Given the description of an element on the screen output the (x, y) to click on. 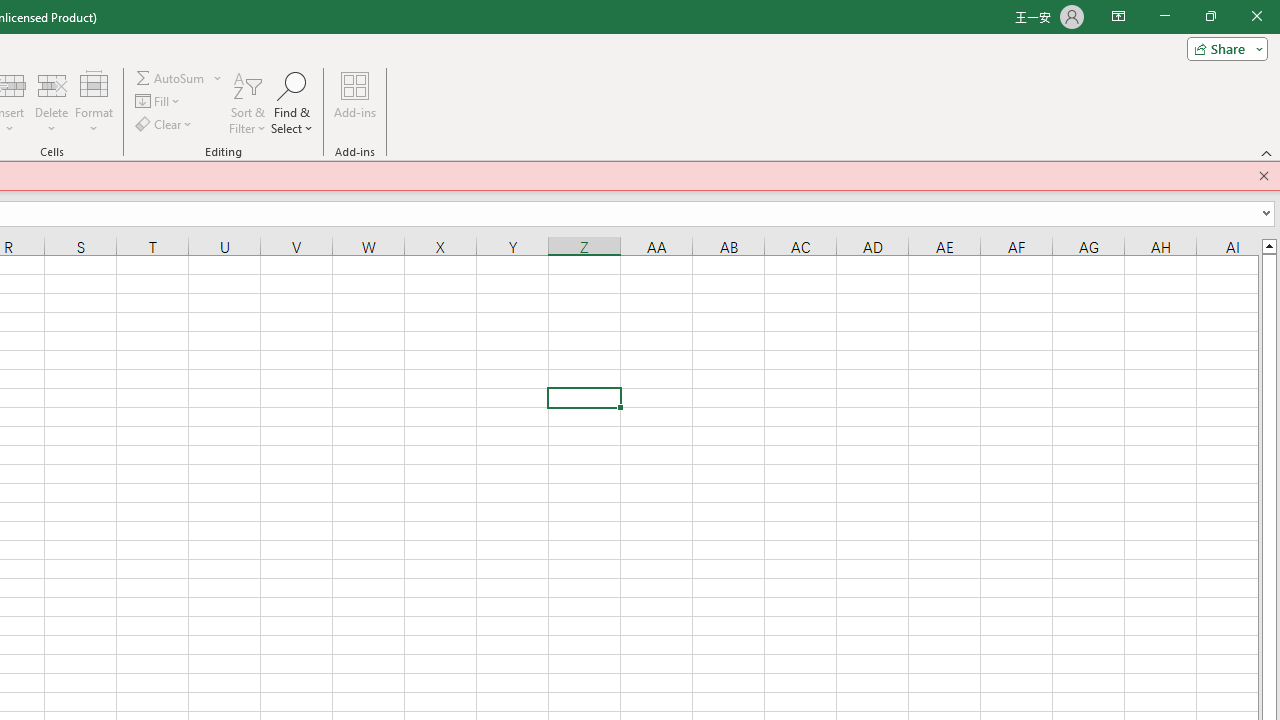
Fill (158, 101)
Sum (171, 78)
Format (94, 102)
Sort & Filter (247, 102)
Close this message (1263, 176)
Delete Cells... (51, 84)
AutoSum (178, 78)
Find & Select (292, 102)
